Given the description of an element on the screen output the (x, y) to click on. 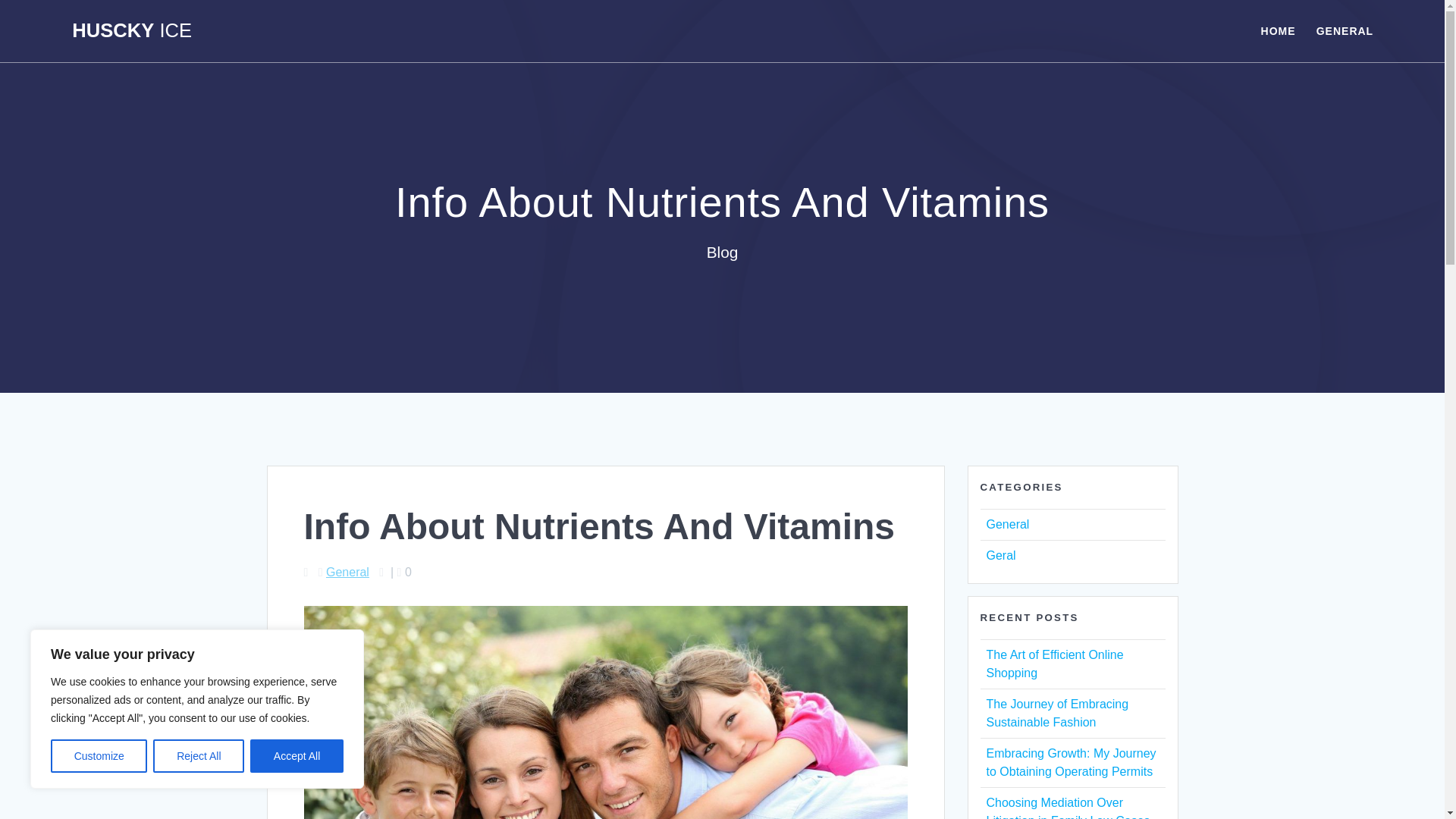
Customize (98, 756)
General (1007, 523)
HOME (1277, 30)
General (347, 571)
GENERAL (1344, 30)
The Art of Efficient Online Shopping (1053, 663)
HUSCKY ICE (131, 30)
Embracing Growth: My Journey to Obtaining Operating Permits (1070, 762)
Choosing Mediation Over Litigation in Family Law Cases (1067, 807)
The Journey of Embracing Sustainable Fashion (1056, 712)
Geral (999, 554)
Accept All (296, 756)
Reject All (198, 756)
